Given the description of an element on the screen output the (x, y) to click on. 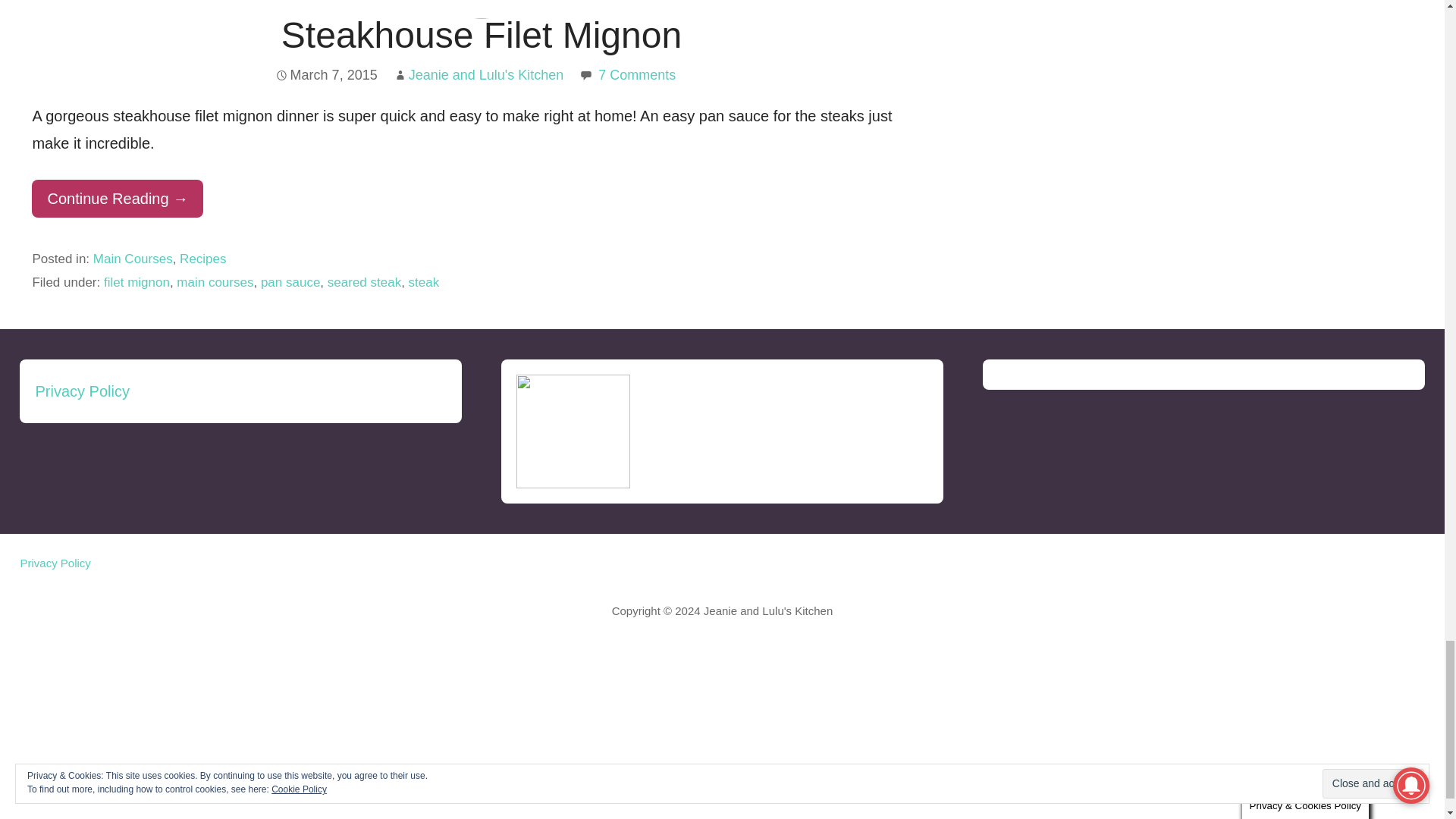
Posts by Jeanie and Lulu's Kitchen (486, 74)
